Given the description of an element on the screen output the (x, y) to click on. 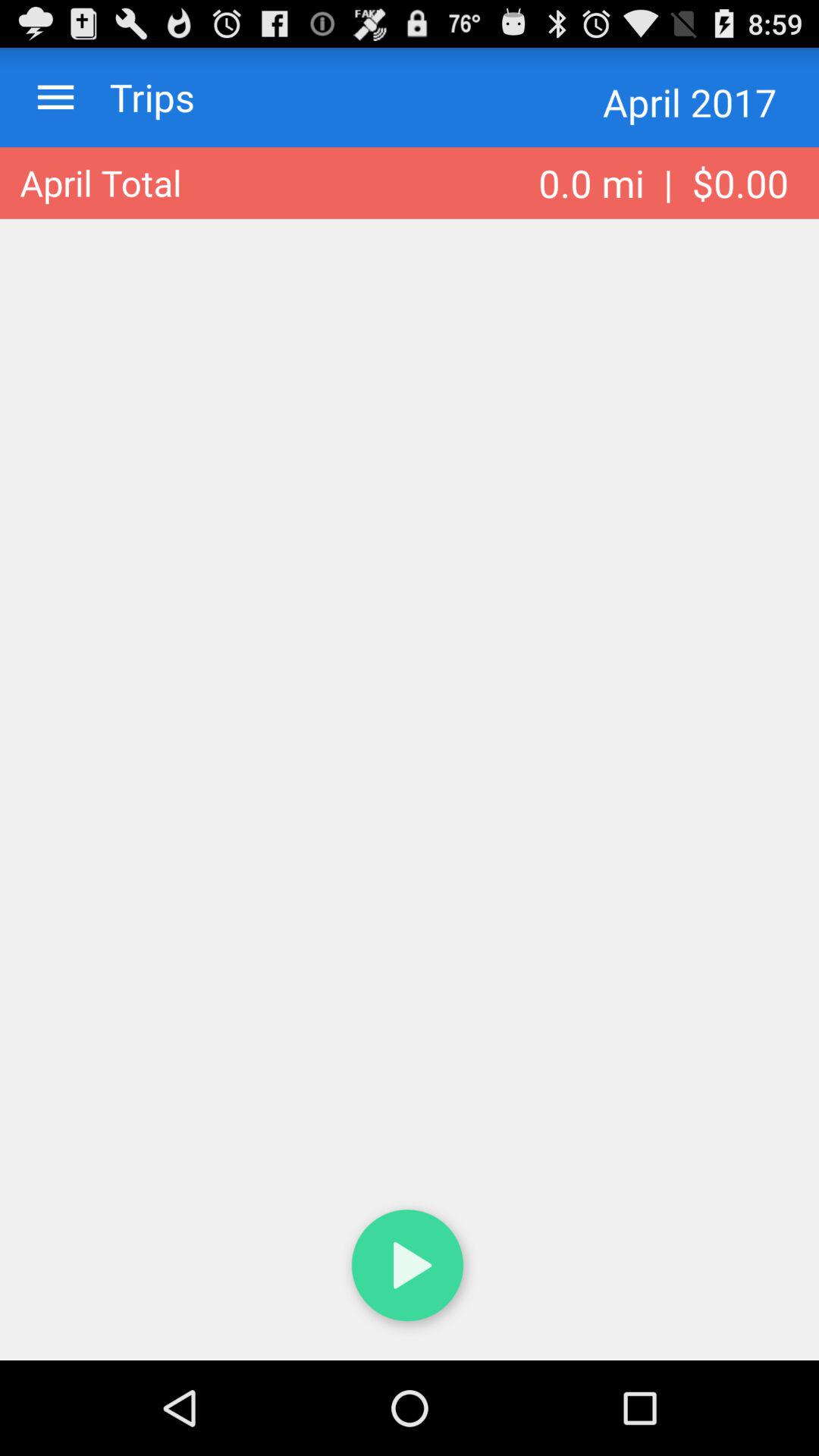
launch app above the april total app (137, 96)
